Given the description of an element on the screen output the (x, y) to click on. 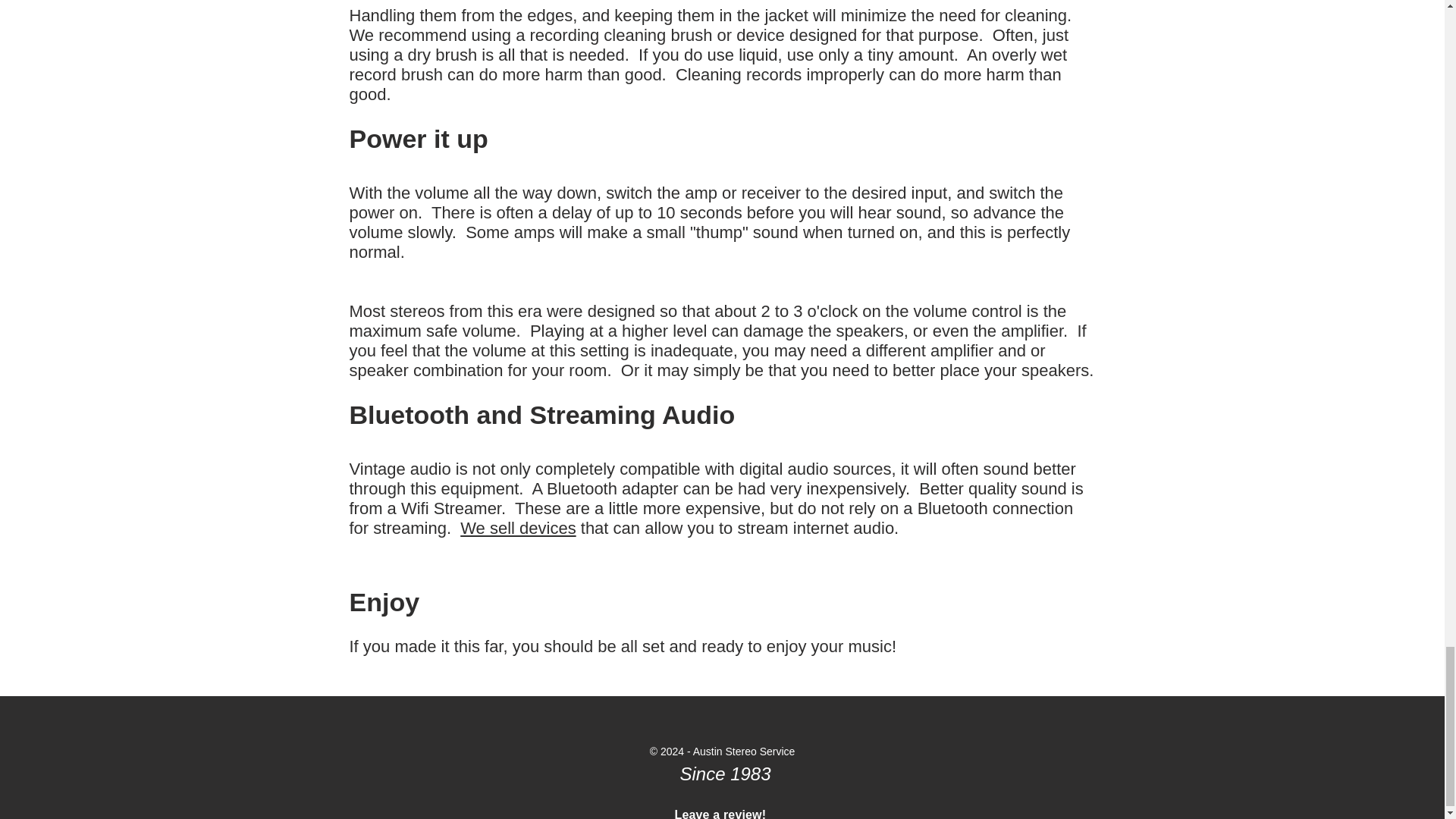
We sell devices (517, 527)
Leave a review! (721, 813)
